Given the description of an element on the screen output the (x, y) to click on. 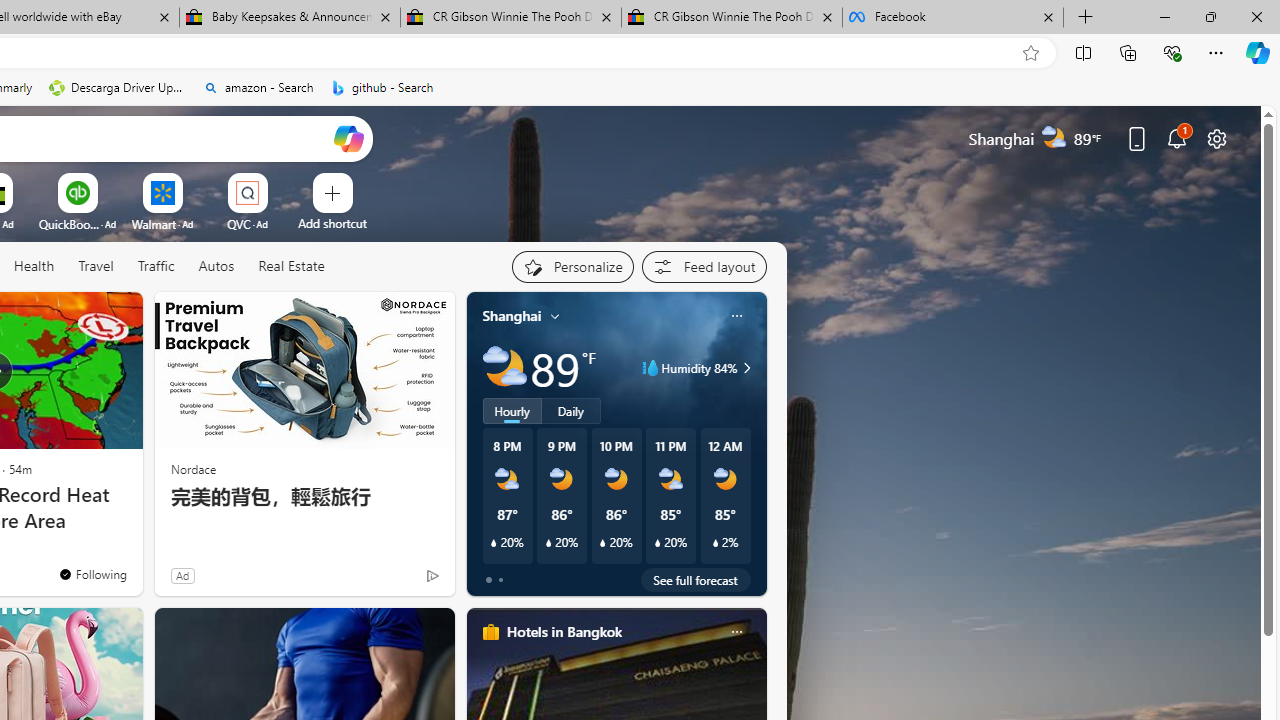
See full forecast (695, 579)
